Given the description of an element on the screen output the (x, y) to click on. 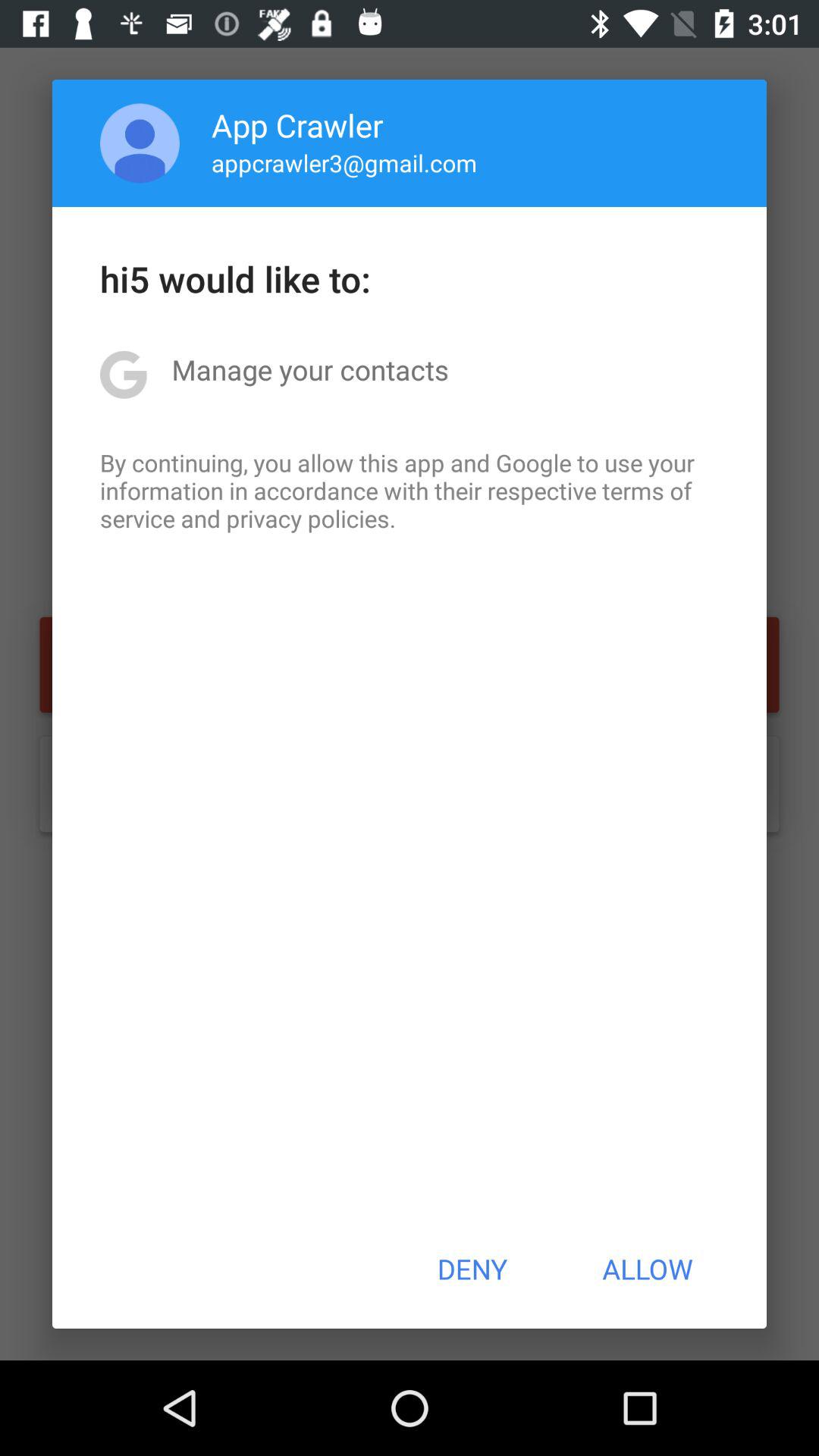
turn on app crawler (297, 124)
